Given the description of an element on the screen output the (x, y) to click on. 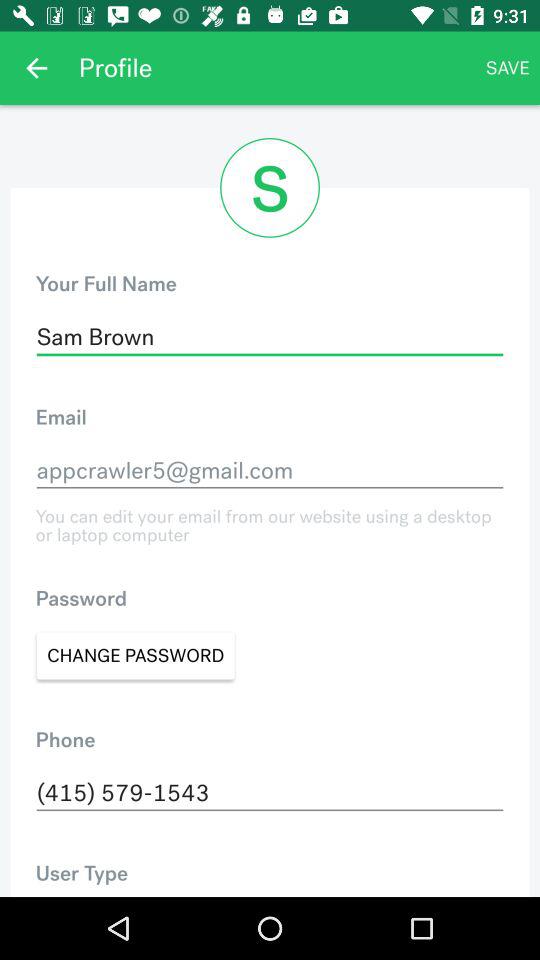
jump until the sam brown icon (269, 337)
